Given the description of an element on the screen output the (x, y) to click on. 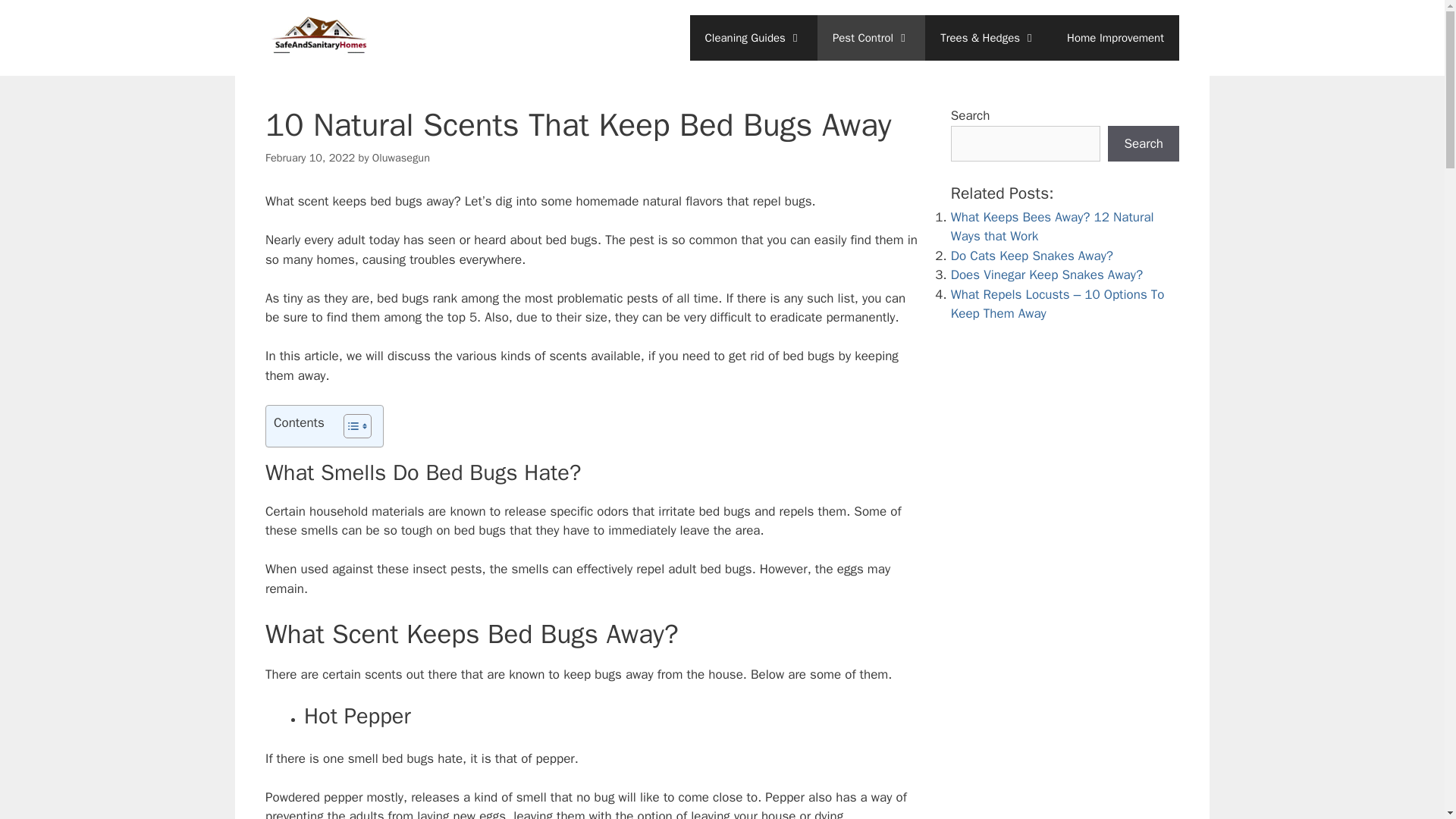
Home Improvement (1115, 37)
Oluwasegun (400, 157)
View all posts by Oluwasegun (400, 157)
Cleaning Guides (753, 37)
Pest Control (870, 37)
